Given the description of an element on the screen output the (x, y) to click on. 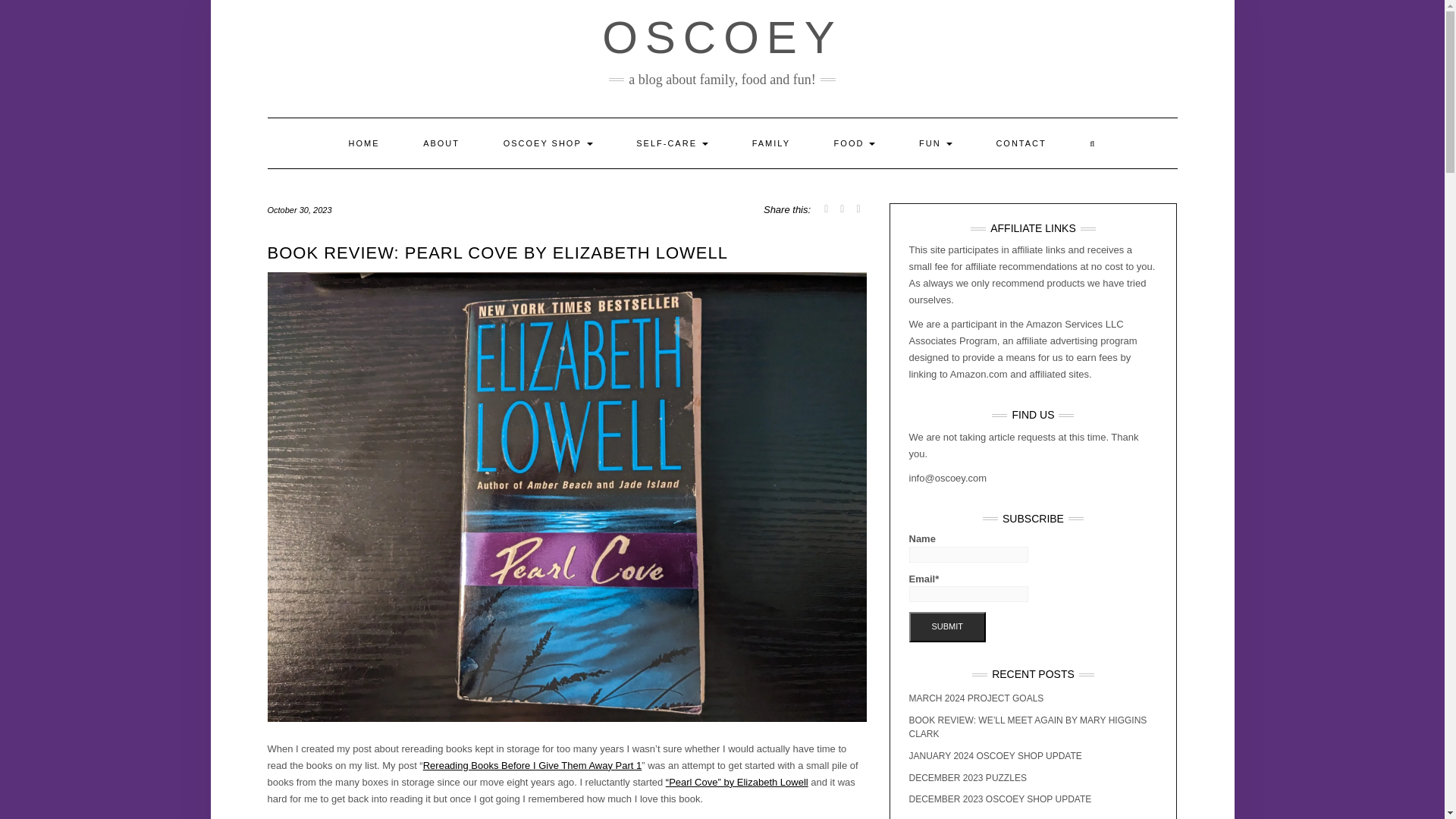
Submit (946, 626)
FOOD (854, 142)
FAMILY (771, 142)
ABOUT (441, 142)
OSCOEY (722, 37)
OSCOEY SHOP (547, 142)
SELF-CARE (672, 142)
Rereading Books Before I Give Them Away Part 1 (532, 765)
HOME (362, 142)
FUN (935, 142)
CONTACT (1020, 142)
